Given the description of an element on the screen output the (x, y) to click on. 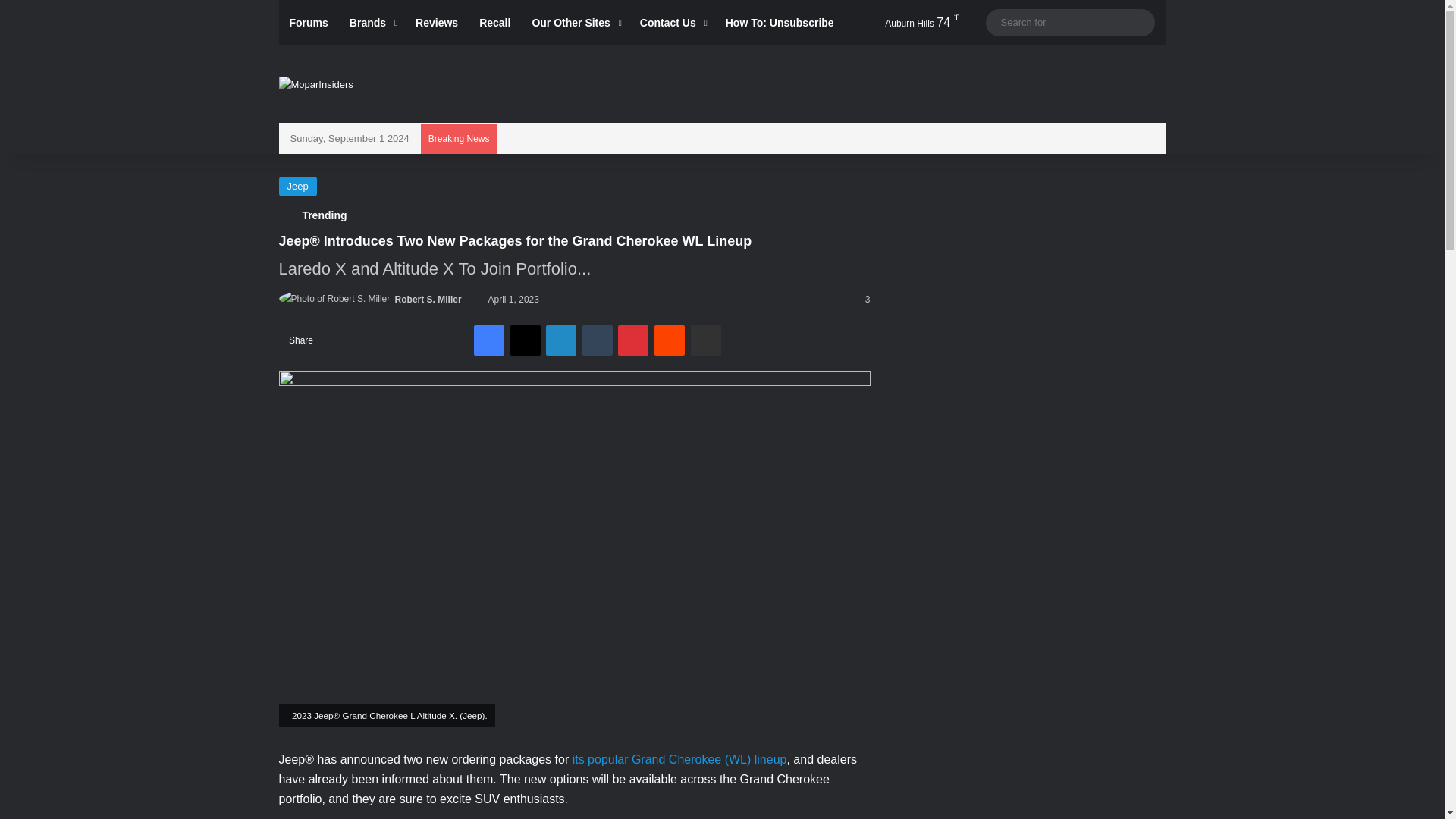
Pinterest (632, 340)
Robert S. Miller (427, 299)
Scattered Clouds (907, 22)
Brands (371, 22)
LinkedIn (561, 340)
X (524, 340)
Search for (1139, 22)
Tumblr (597, 340)
Reddit (668, 340)
Forums (309, 22)
